Given the description of an element on the screen output the (x, y) to click on. 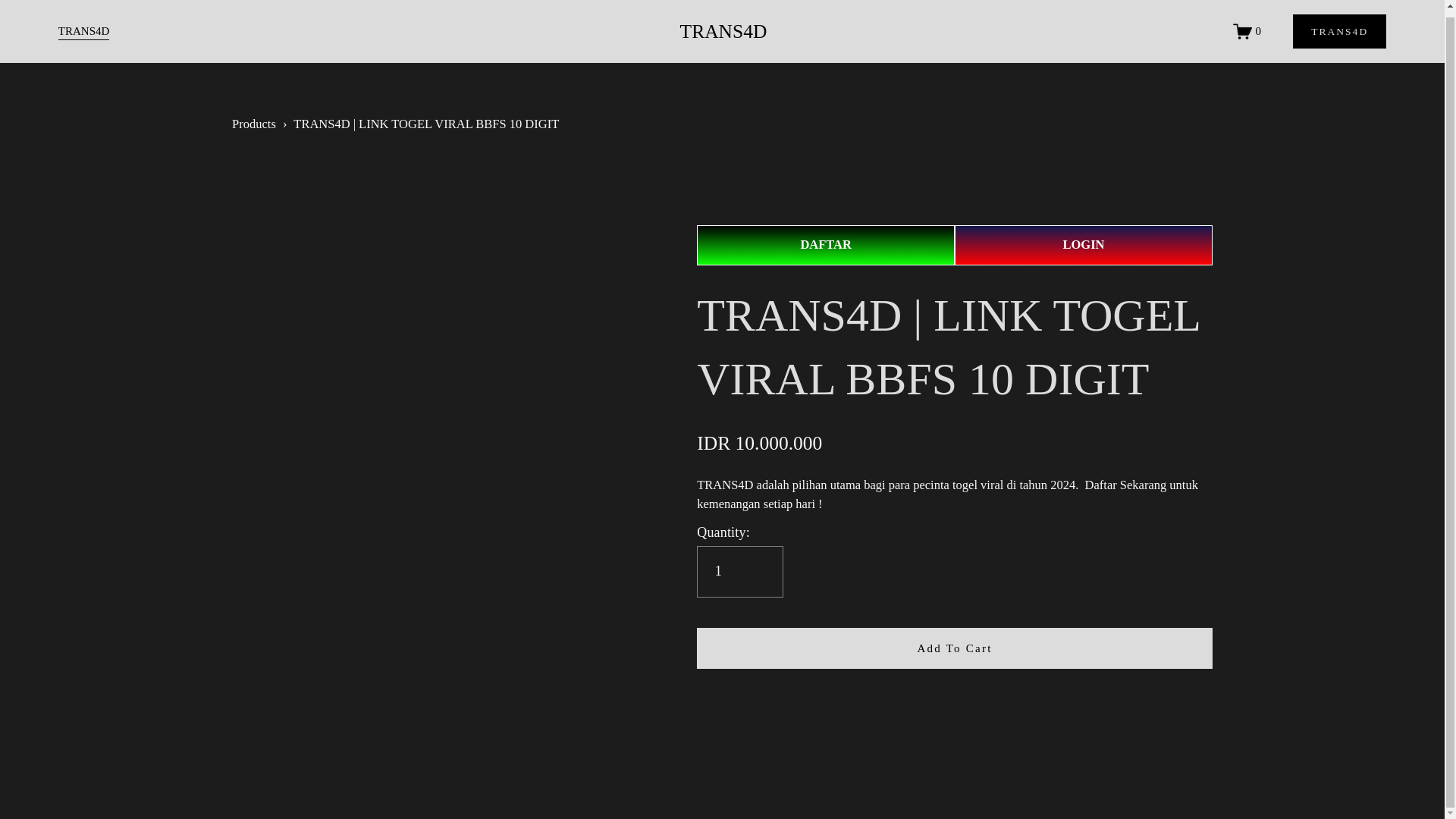
0 (1246, 25)
DAFTAR (826, 245)
1 (740, 571)
TRANS4D (1339, 25)
Products (253, 124)
LOGIN (1083, 245)
TRANS4D (723, 25)
TRANS4D (84, 25)
